Given the description of an element on the screen output the (x, y) to click on. 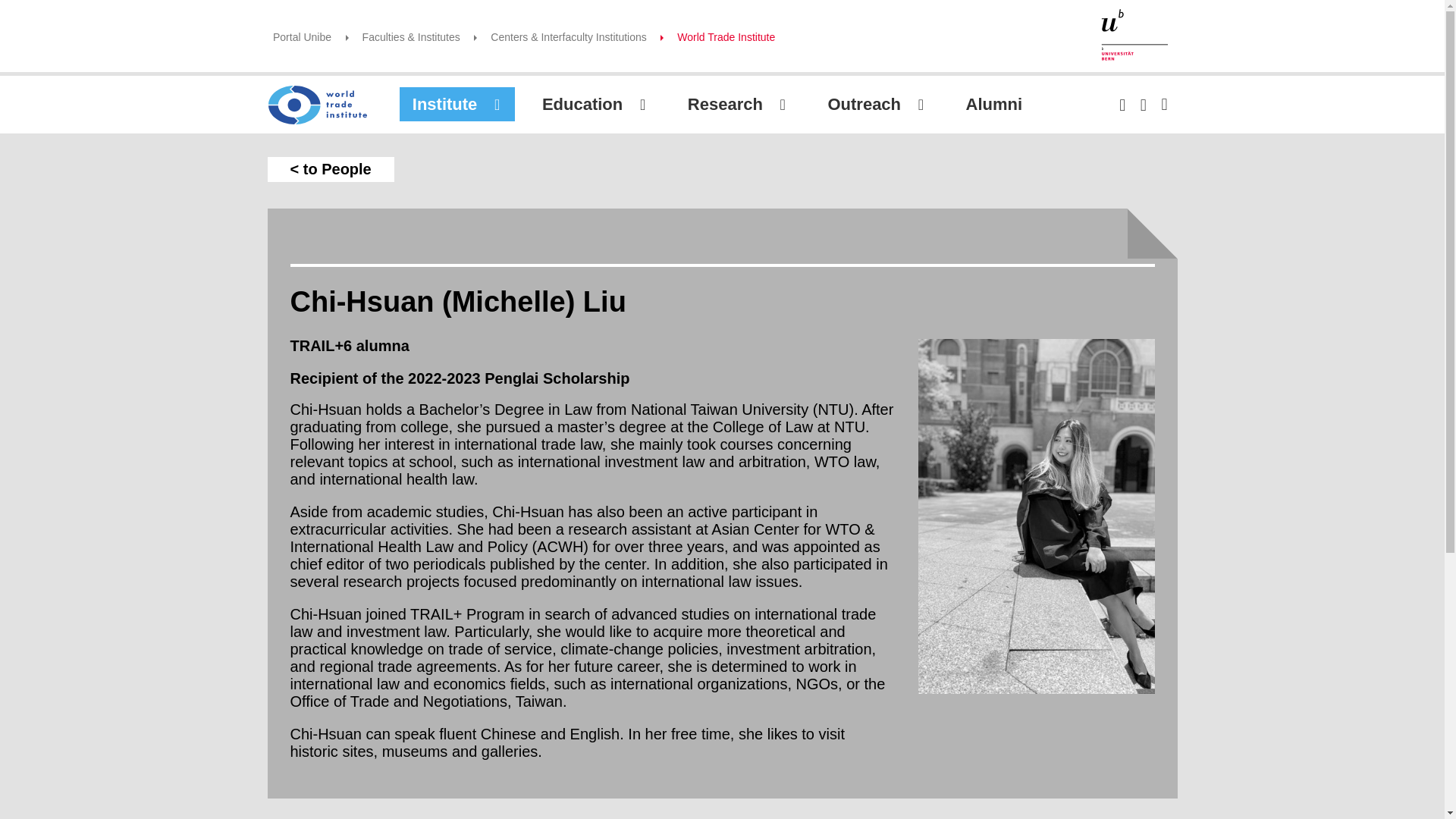
Portal Unibe (302, 37)
Outreach (876, 104)
Institute (456, 104)
Education (595, 104)
World Trade Institute (725, 37)
Alumni (1007, 104)
Research (737, 104)
